Given the description of an element on the screen output the (x, y) to click on. 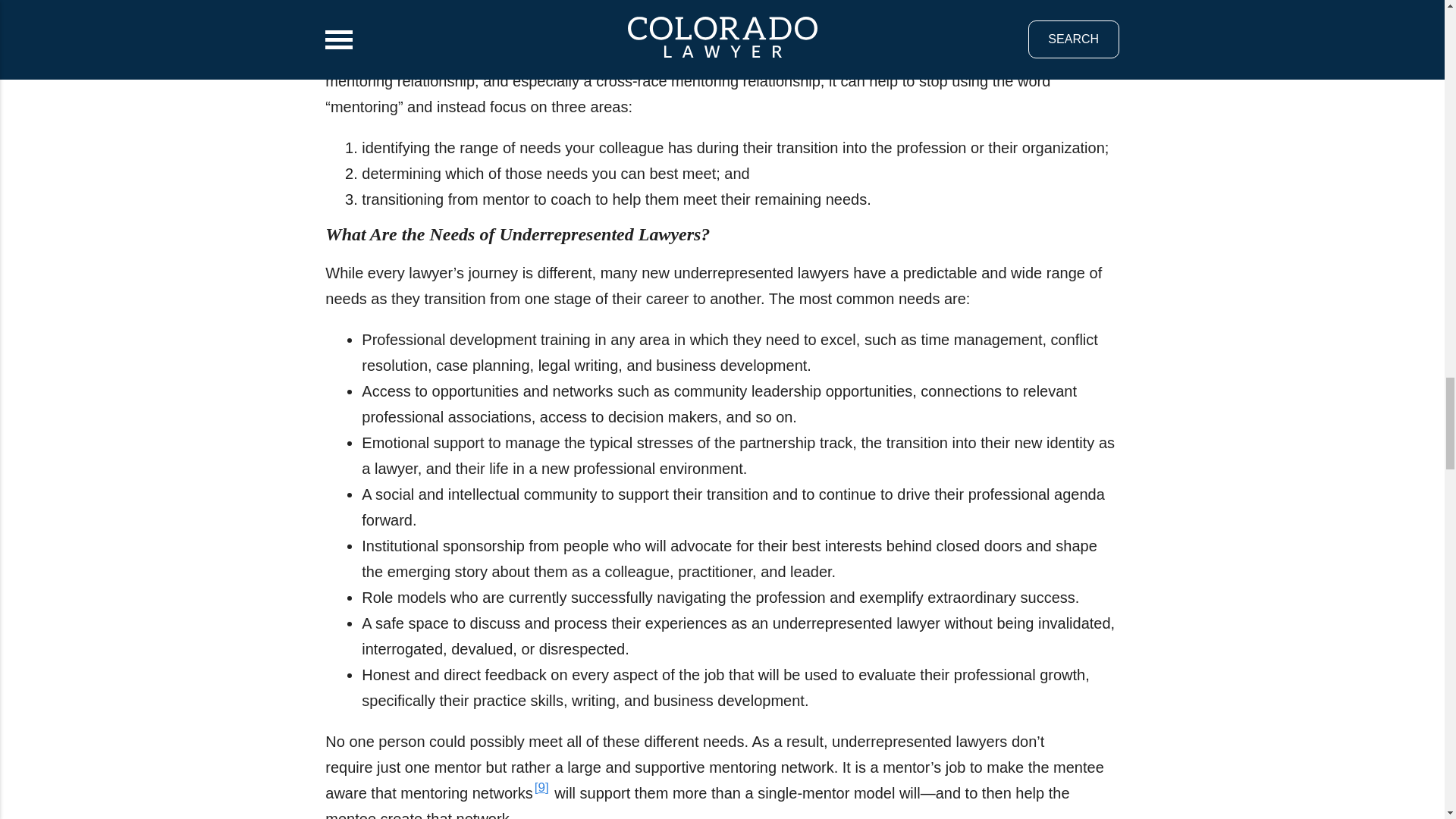
9 (541, 787)
